Given the description of an element on the screen output the (x, y) to click on. 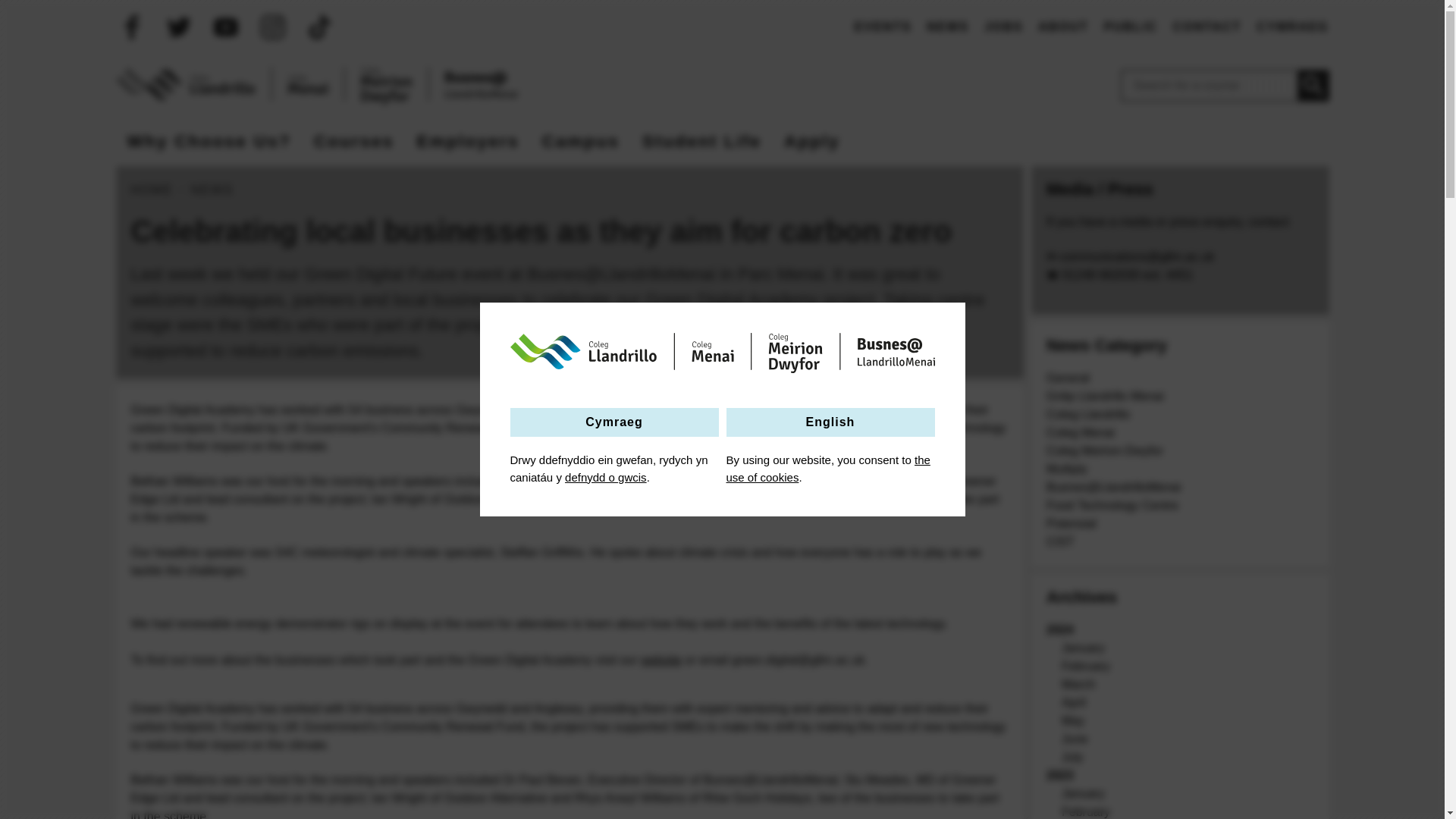
English (830, 421)
ABOUT (1062, 26)
defnydd o gwcis (605, 477)
PUBLIC (1130, 26)
JOBS (1003, 26)
Cymraeg (613, 421)
EVENTS (883, 26)
CYMRAEG (1291, 26)
Courses (354, 141)
NEWS (947, 26)
Why Choose Us? (208, 141)
CONTACT (1207, 26)
the use of cookies (828, 468)
